Given the description of an element on the screen output the (x, y) to click on. 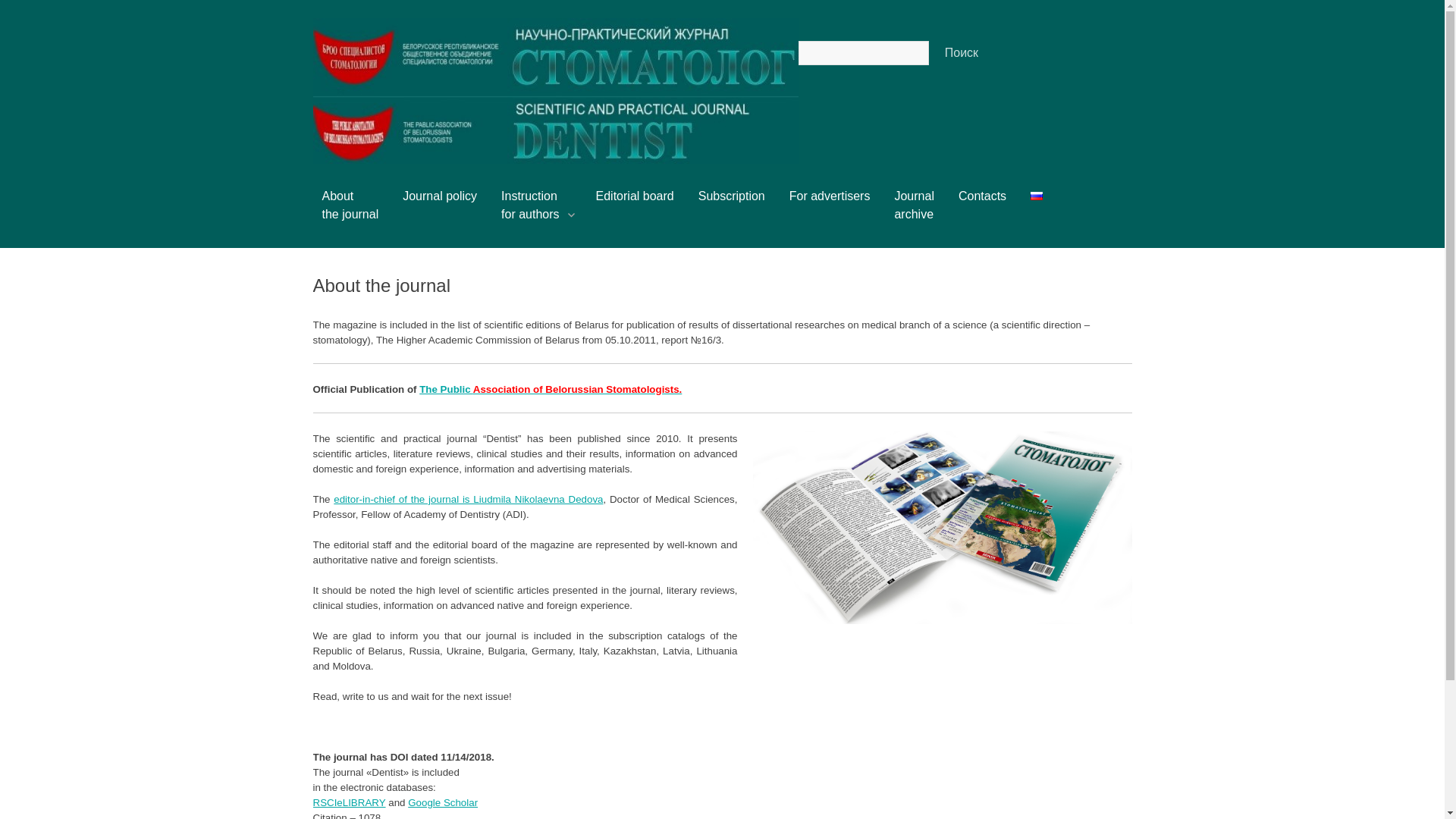
Journal
archive Element type: text (913, 211)
Skip to content Element type: text (337, 196)
Instruction
for authors Element type: text (536, 211)
About
the journal Element type: text (349, 211)
Google Scholar Element type: text (442, 802)
RSCIeLIBRARY Element type: text (348, 802)
editor-in-chief of the journal is Liudmila Nikolaevna Dedova Element type: text (467, 499)
For advertisers Element type: text (829, 202)
The Public Association of Belorussian Stomatologists. Element type: text (550, 389)
Journal policy Element type: text (439, 202)
Editorial board Element type: text (635, 202)
Subscription Element type: text (731, 202)
Contacts Element type: text (982, 202)
